Given the description of an element on the screen output the (x, y) to click on. 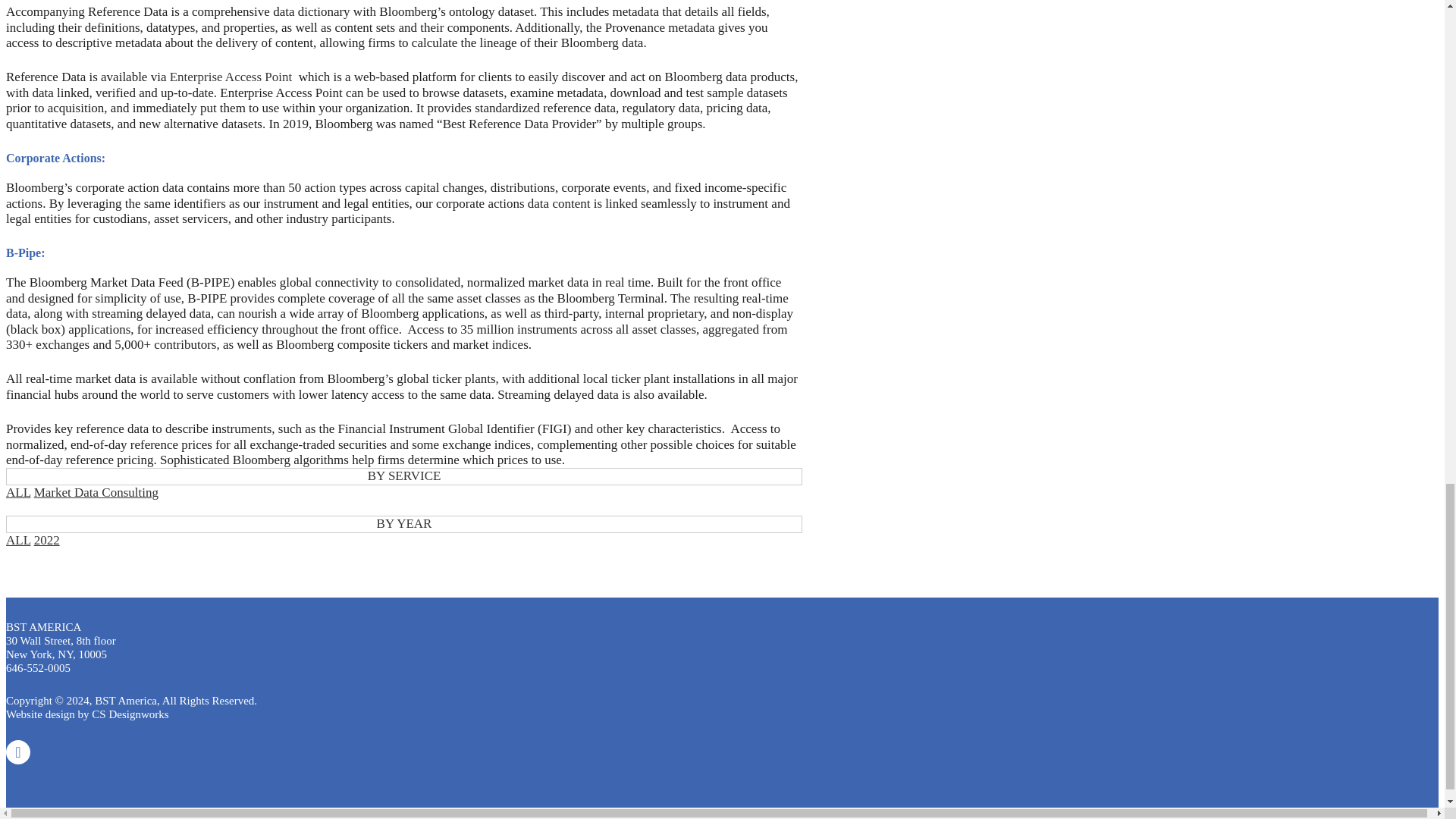
Enterprise Access Point (231, 76)
CS Designworks (129, 714)
Market Data Consulting (95, 492)
BY SERVICE (403, 475)
ALL (17, 539)
ALL (17, 492)
2022 (46, 539)
BY YEAR (403, 523)
